Given the description of an element on the screen output the (x, y) to click on. 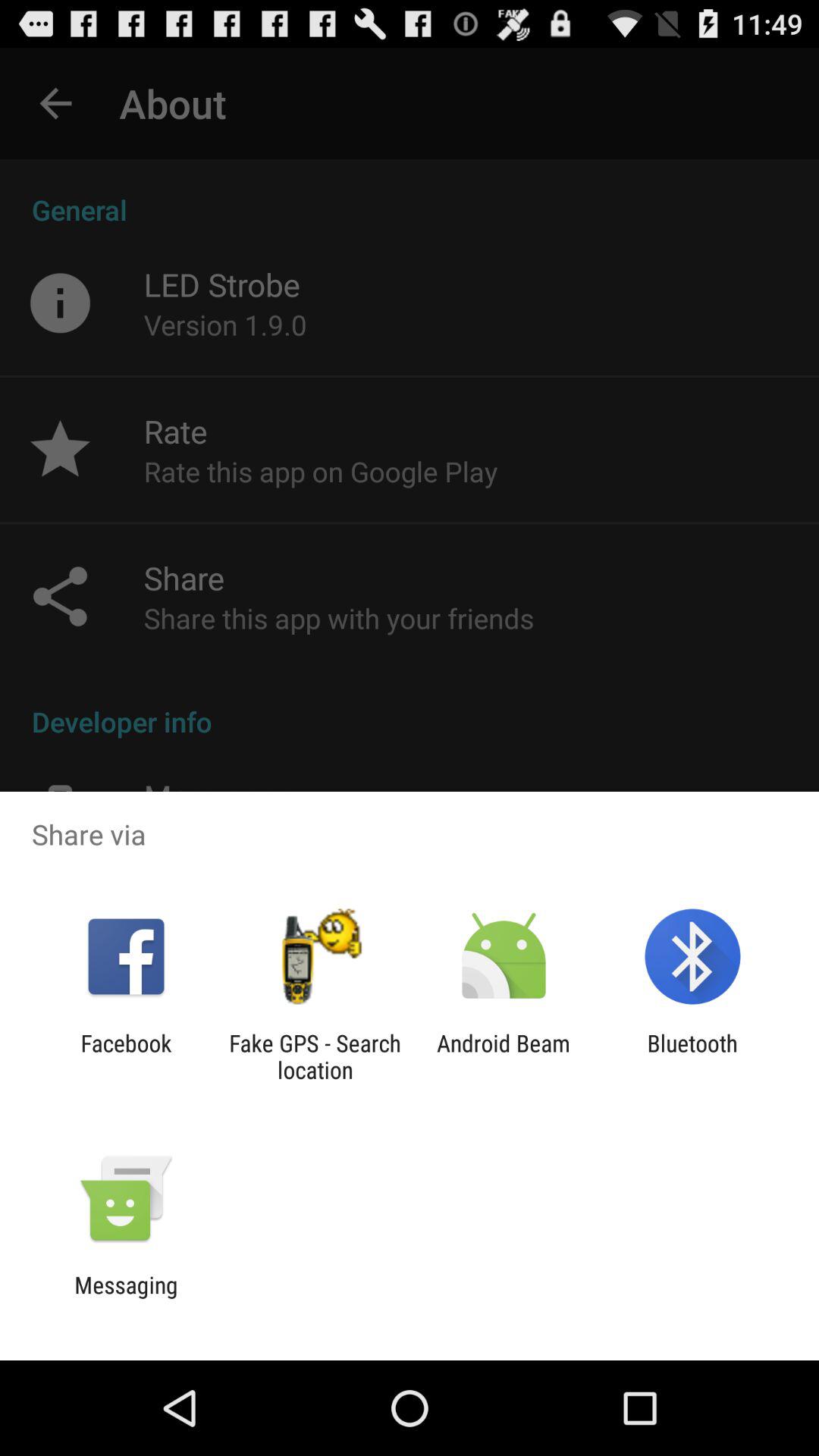
flip to the fake gps search app (314, 1056)
